Given the description of an element on the screen output the (x, y) to click on. 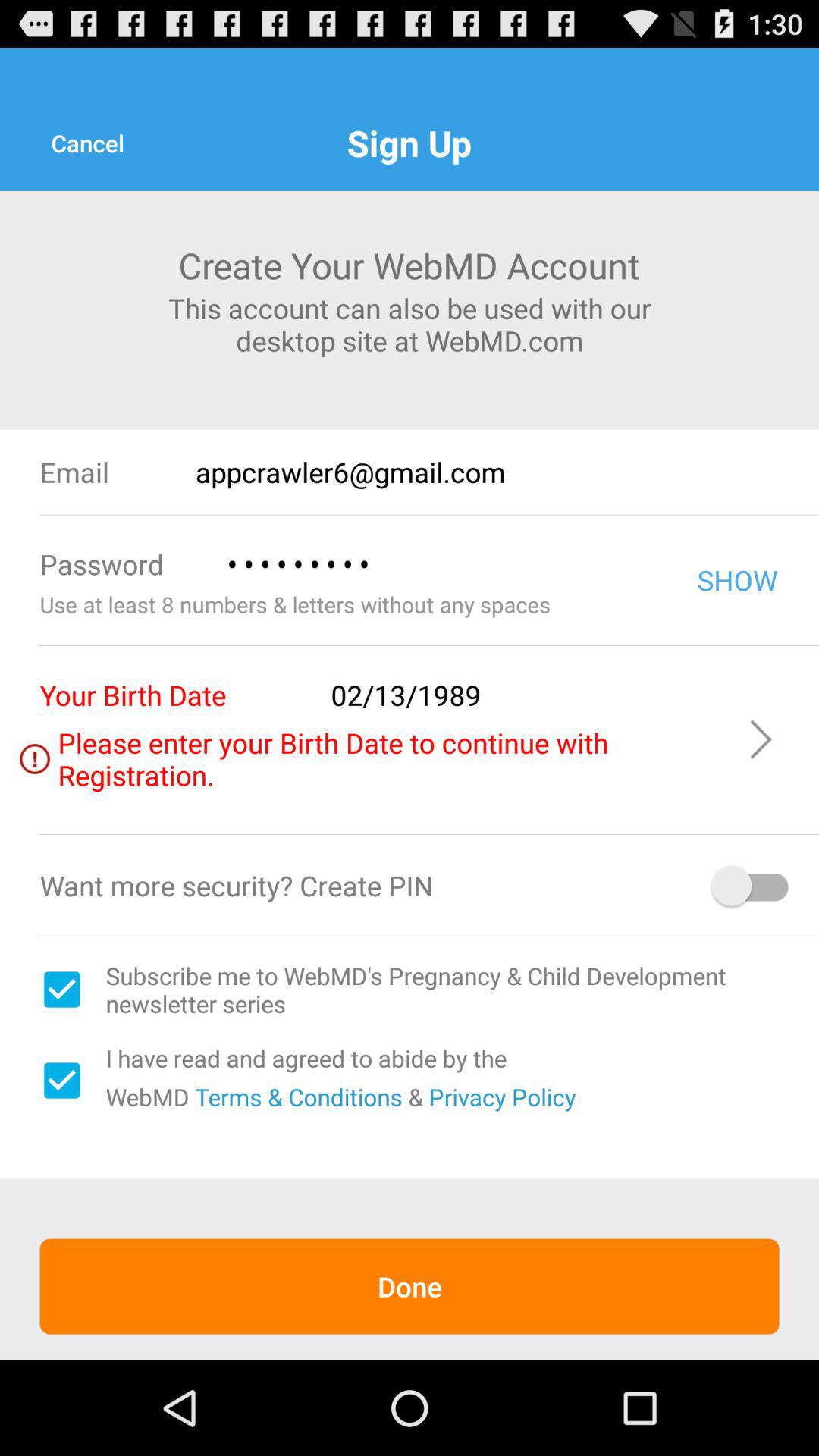
flip to crowd3116 (439, 564)
